Given the description of an element on the screen output the (x, y) to click on. 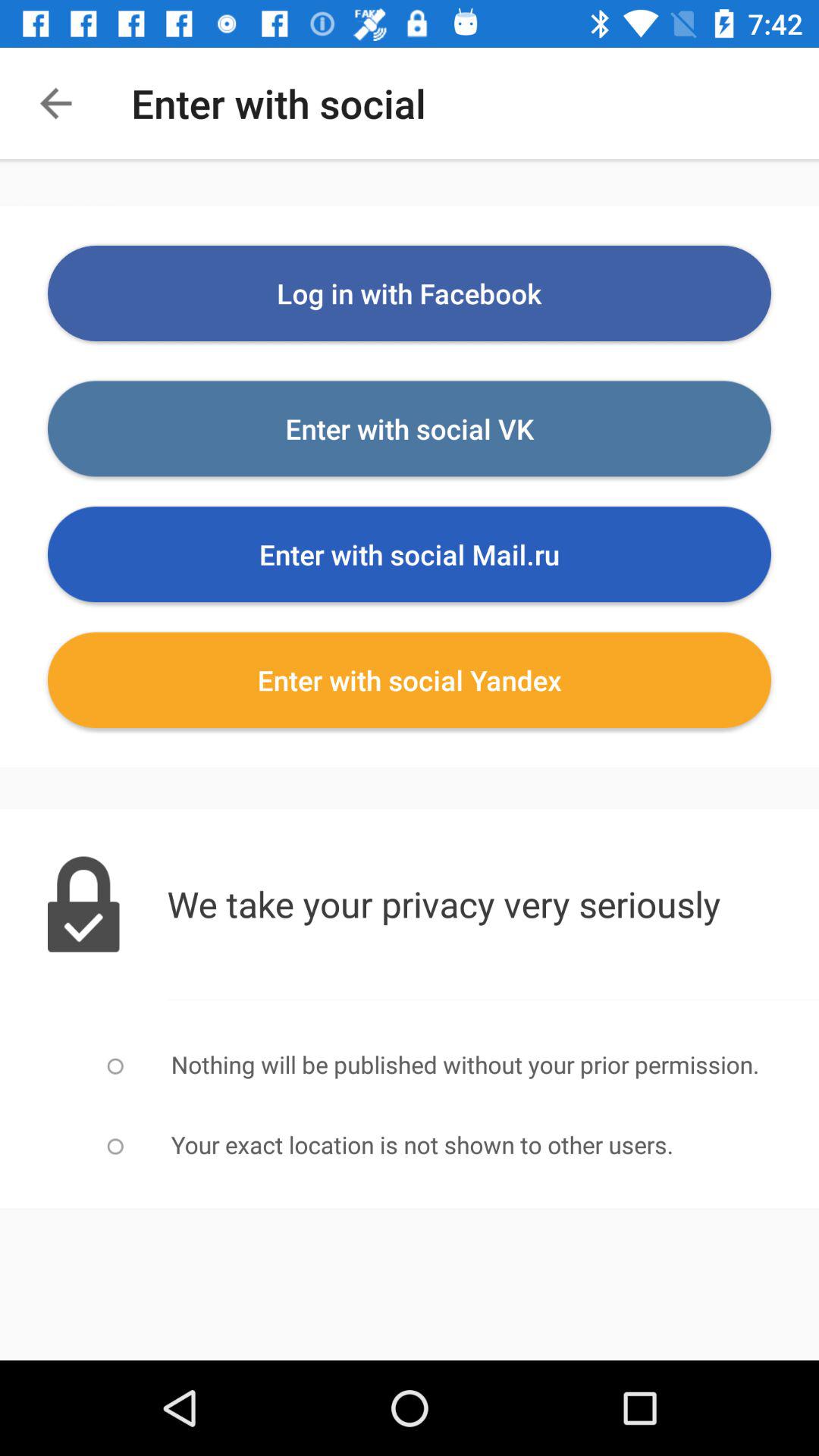
click item at the top left corner (55, 103)
